Given the description of an element on the screen output the (x, y) to click on. 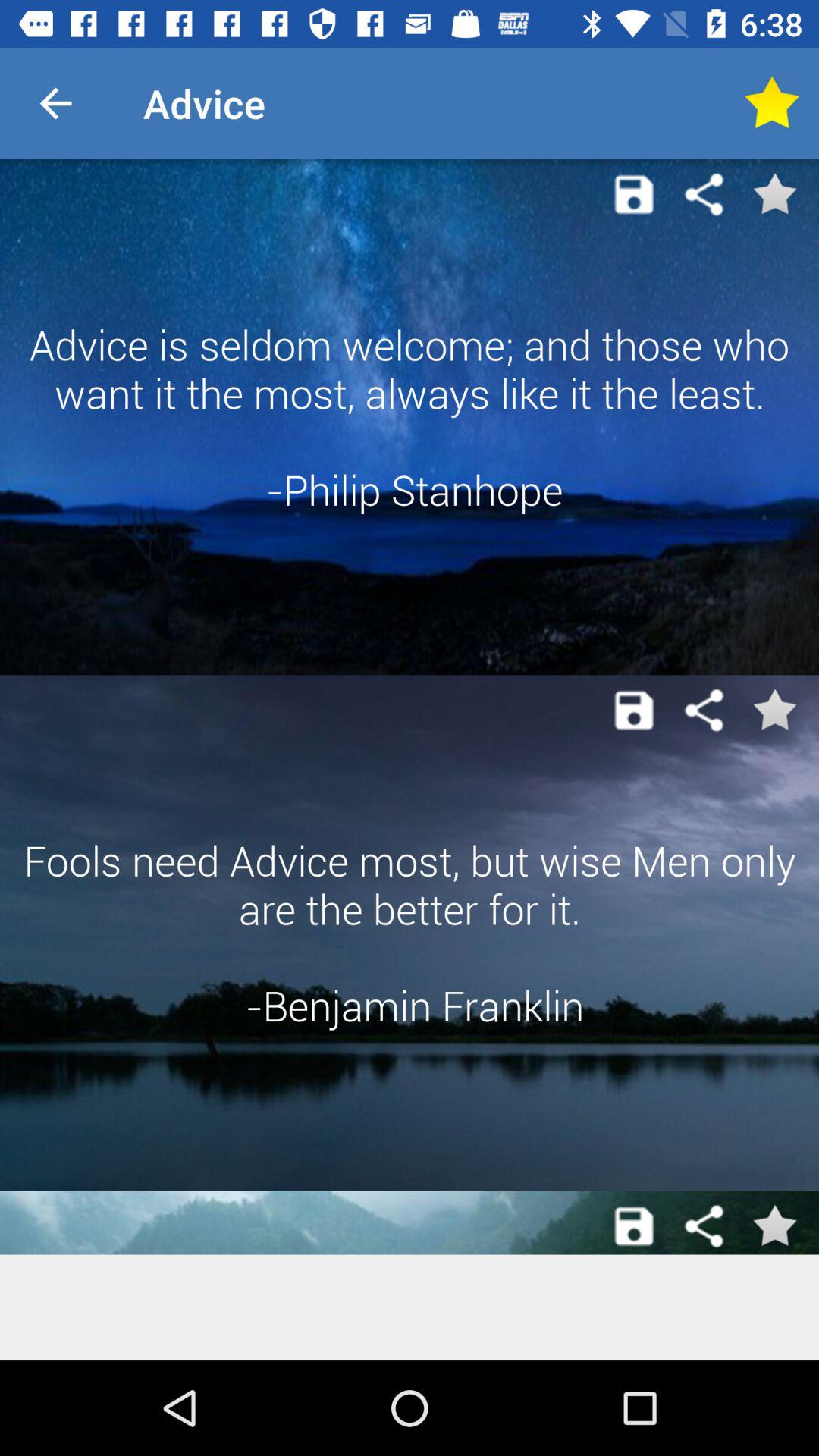
share quote (704, 710)
